Given the description of an element on the screen output the (x, y) to click on. 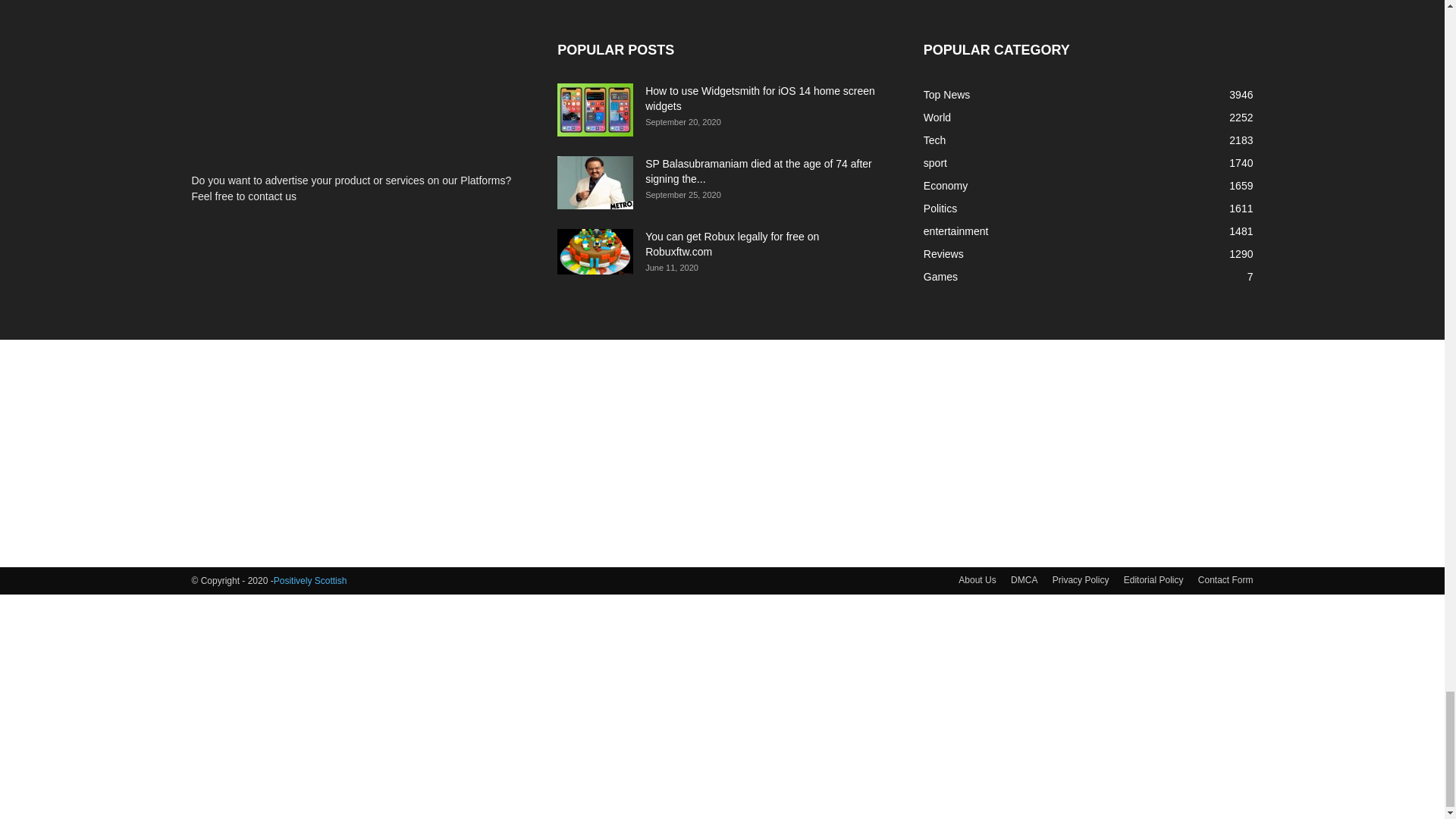
How to use Widgetsmith for iOS 14 home screen widgets (595, 109)
